Given the description of an element on the screen output the (x, y) to click on. 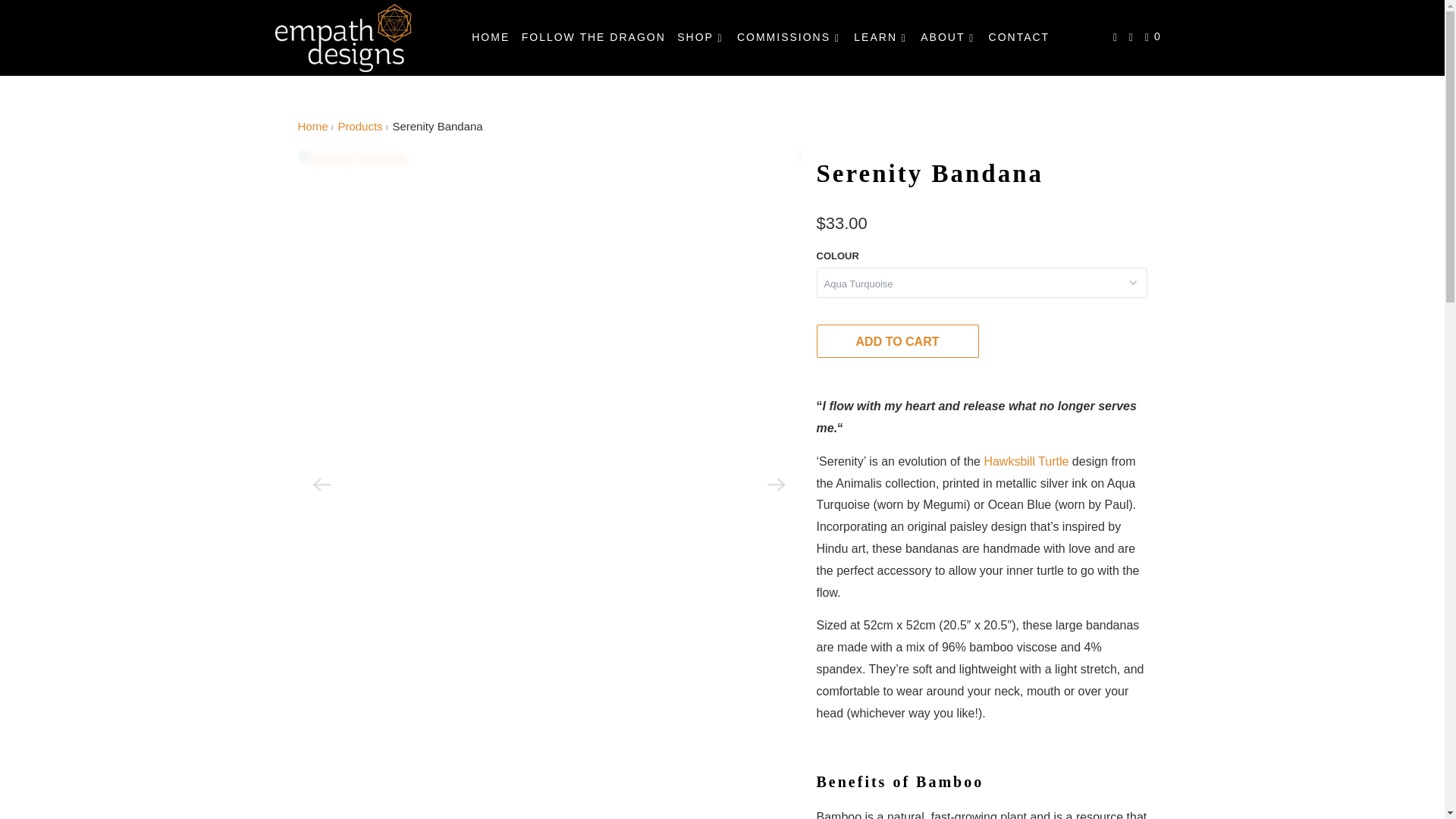
Empath Designs (342, 38)
Empath Designs (312, 125)
Products (359, 125)
